Given the description of an element on the screen output the (x, y) to click on. 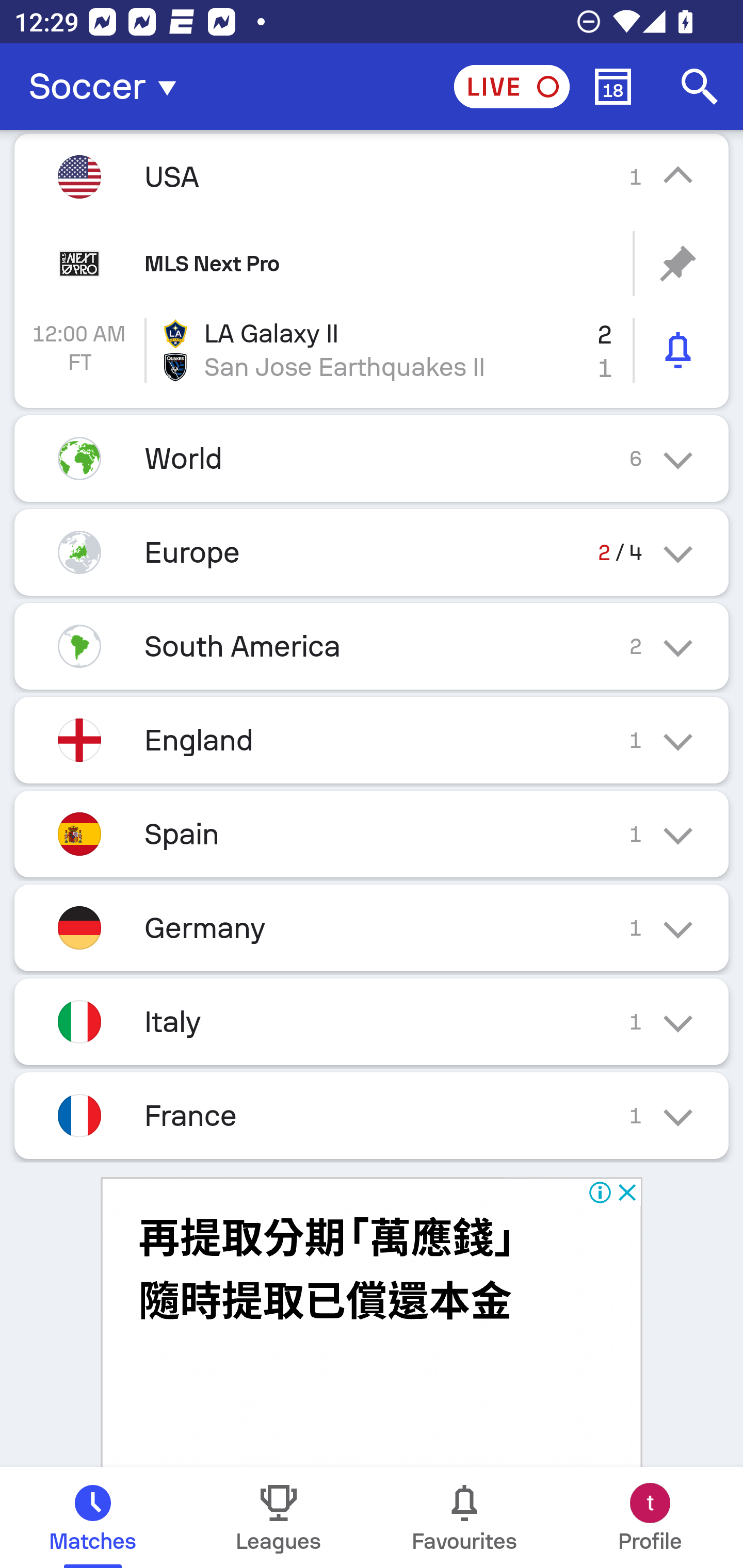
Soccer (108, 86)
Calendar (612, 86)
Search (699, 86)
USA 1 (371, 176)
MLS Next Pro (371, 263)
World 6 (371, 458)
Europe 2 / 4 (371, 552)
South America 2 (371, 646)
England 1 (371, 740)
Spain 1 (371, 834)
Germany 1 (371, 927)
Italy 1 (371, 1021)
France 1 (371, 1115)
300x250 (371, 1322)
Leagues (278, 1517)
Favourites (464, 1517)
Profile (650, 1517)
